Given the description of an element on the screen output the (x, y) to click on. 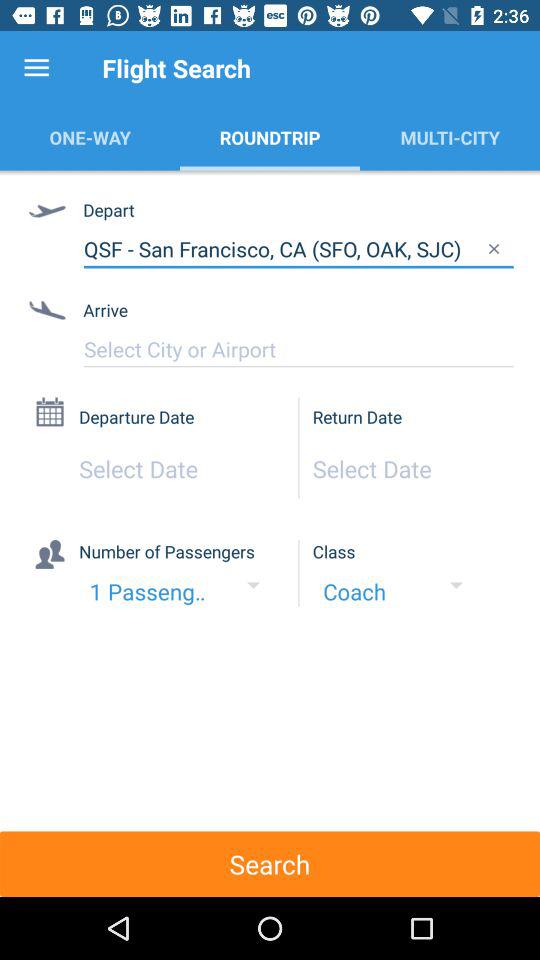
click qsf san francisco item (298, 249)
